Given the description of an element on the screen output the (x, y) to click on. 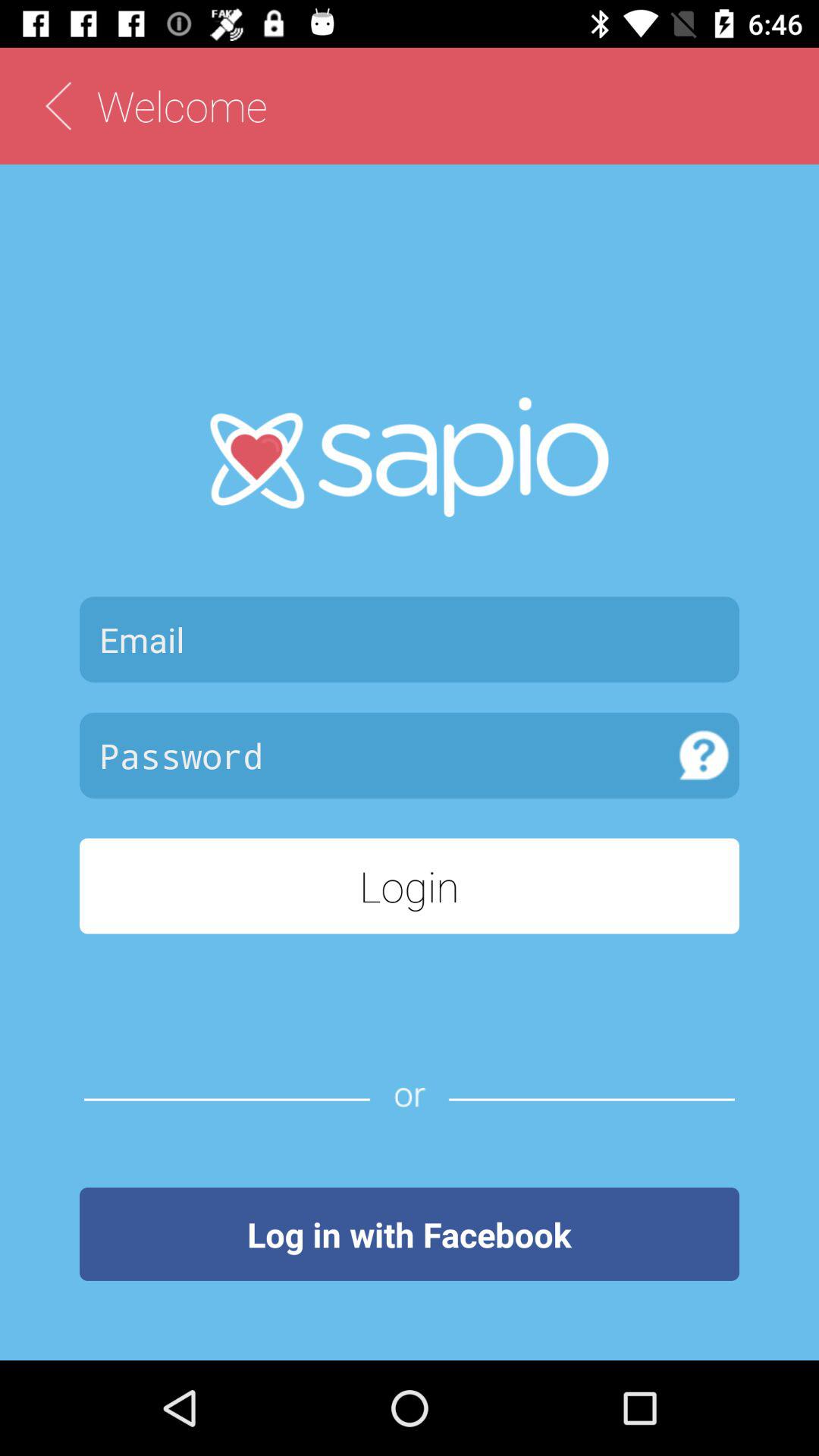
password entry (373, 755)
